Given the description of an element on the screen output the (x, y) to click on. 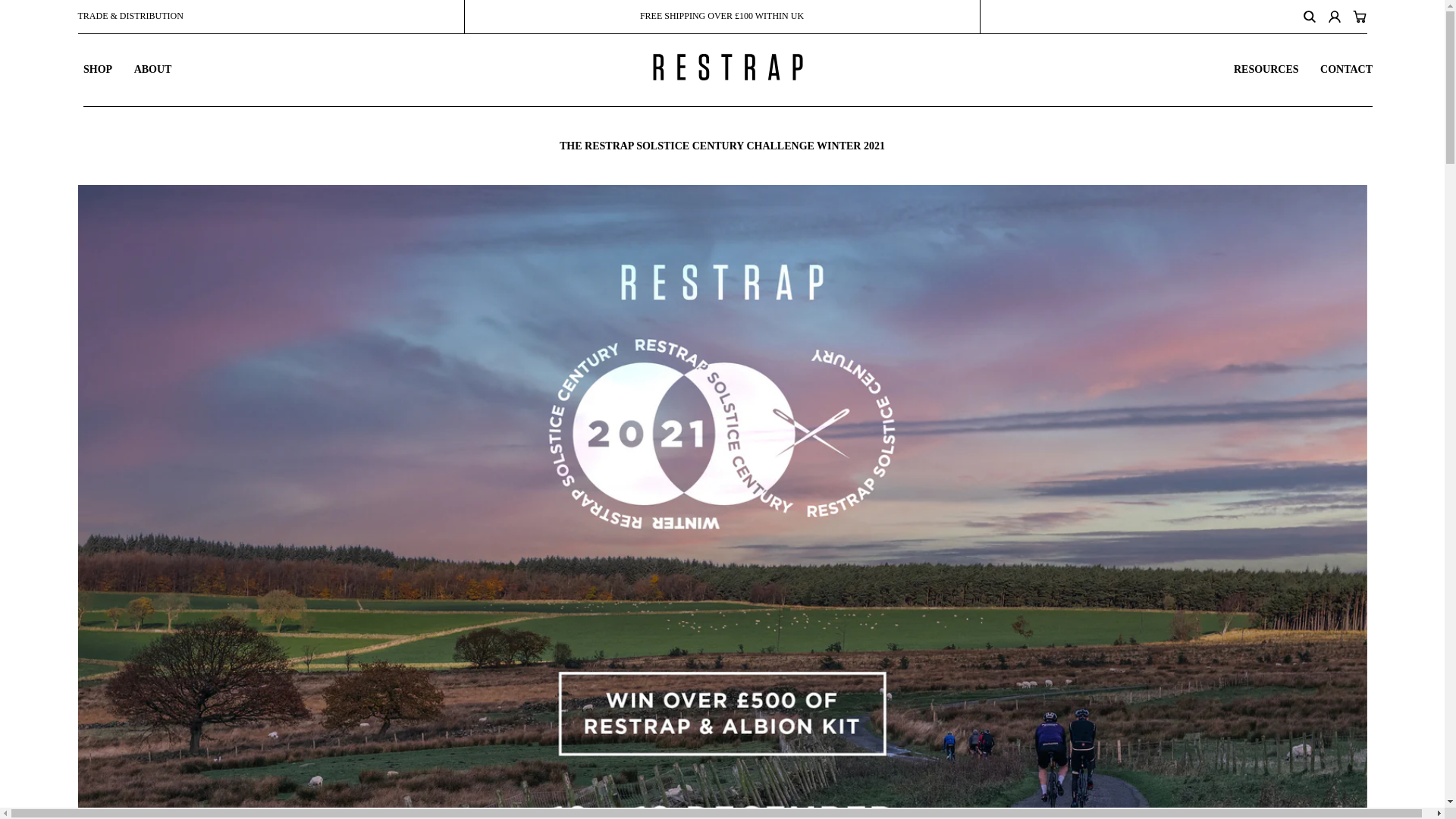
CONTACT (1346, 69)
RESOURCES (1265, 69)
ABOUT (152, 69)
SHOP (97, 69)
